Given the description of an element on the screen output the (x, y) to click on. 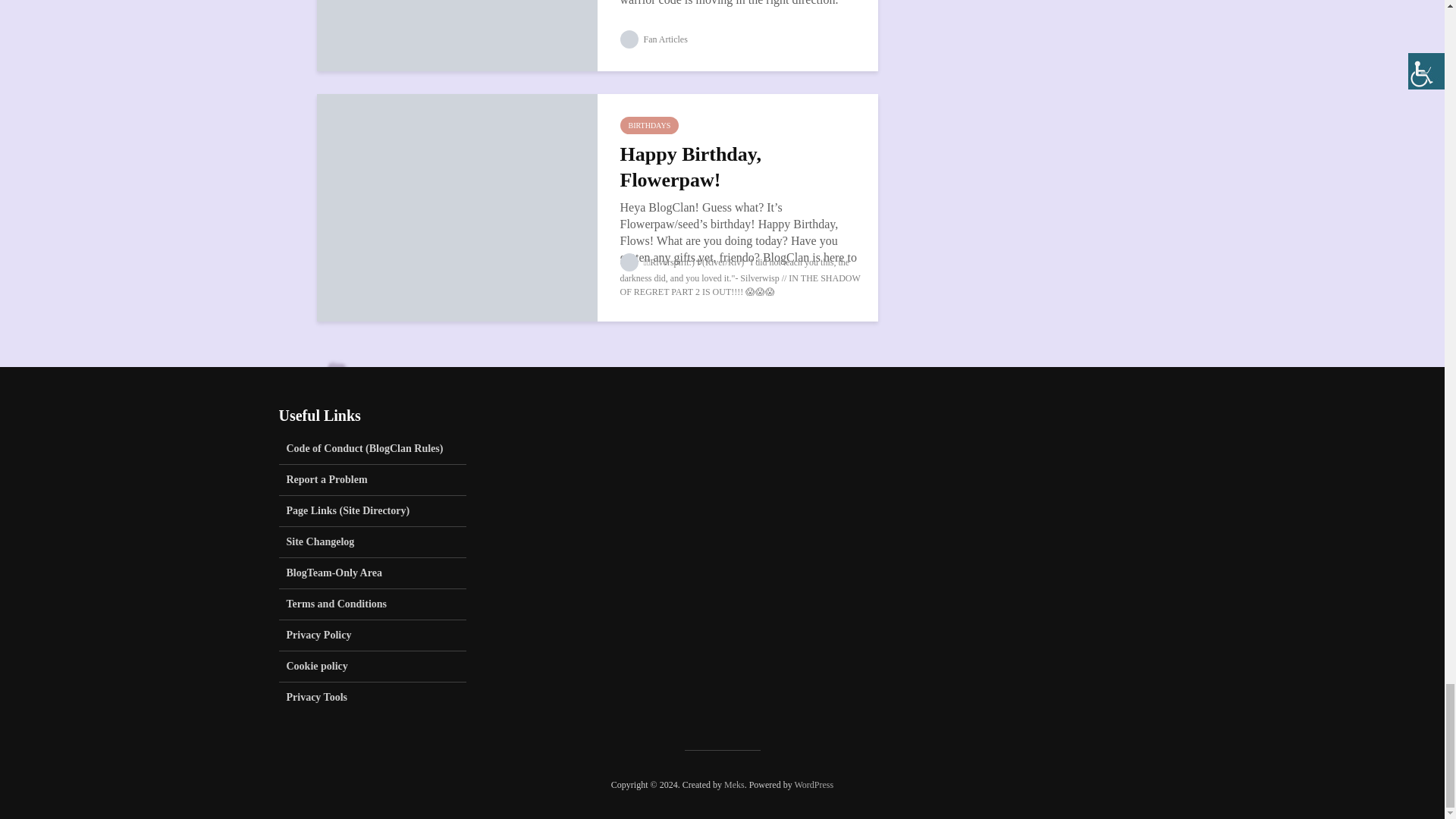
Happy Birthday, Flowerpaw! (456, 205)
